Given the description of an element on the screen output the (x, y) to click on. 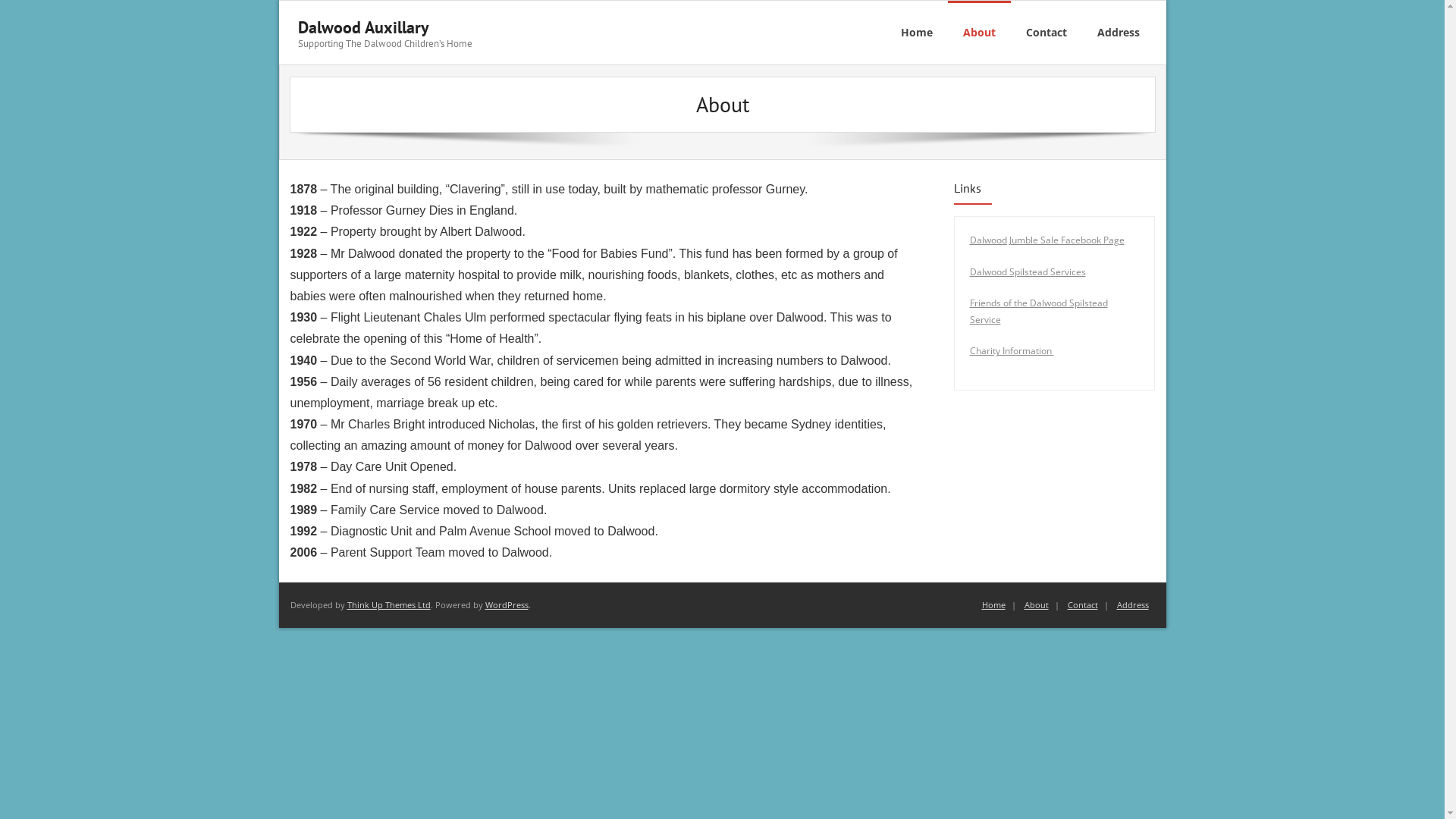
About Element type: text (1035, 604)
ood Spilstead Service Element type: text (1038, 311)
Dalwood Jumble Sale Facebook Page Element type: text (1046, 239)
Address Element type: text (1132, 604)
Home Element type: text (992, 604)
Contact Element type: text (1082, 604)
Address Element type: text (1117, 32)
About Element type: text (978, 32)
Dalwood Spilstead Services Element type: text (1027, 271)
Contact Element type: text (1045, 32)
Think Up Themes Ltd Element type: text (388, 604)
Friends of the Dalw Element type: text (1009, 302)
Charity Information  Element type: text (1011, 350)
WordPress Element type: text (506, 604)
Home Element type: text (916, 32)
